Given the description of an element on the screen output the (x, y) to click on. 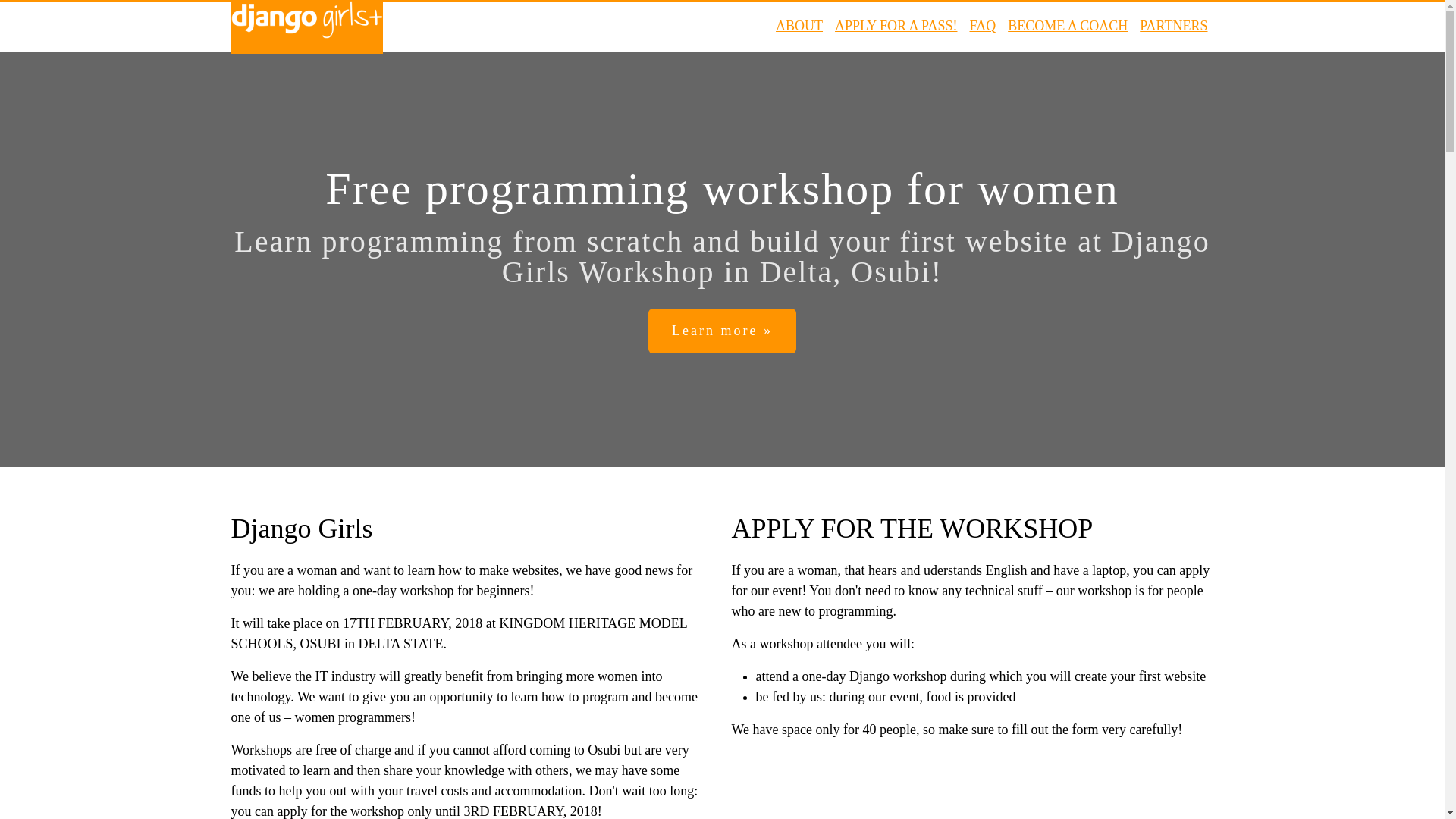
ABOUT (799, 25)
BECOME A COACH (1066, 25)
APPLY FOR A PASS! (895, 25)
PARTNERS (1173, 25)
FAQ (982, 25)
